Given the description of an element on the screen output the (x, y) to click on. 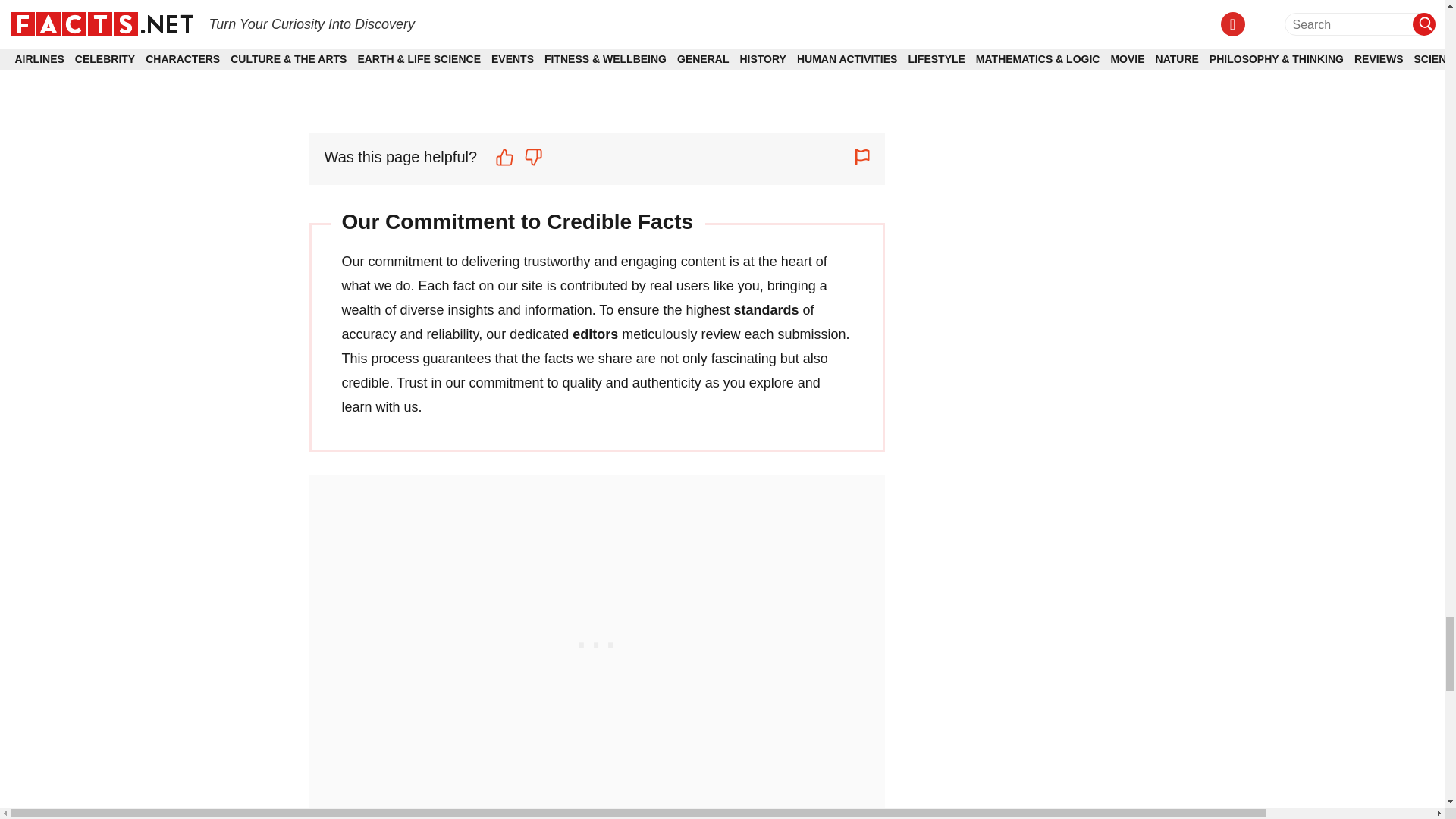
magical journey (529, 5)
